Given the description of an element on the screen output the (x, y) to click on. 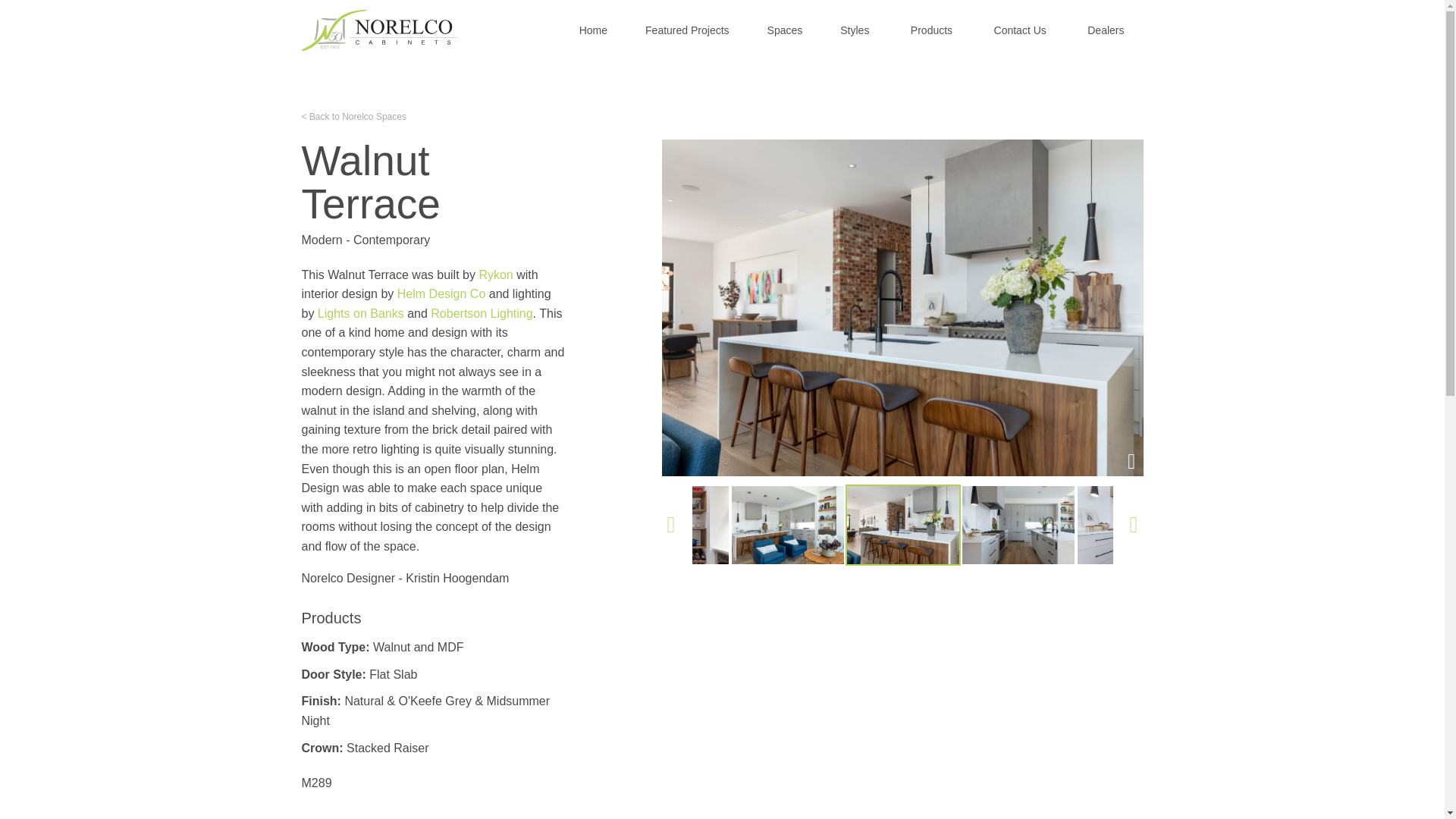
Lights on Banks (360, 313)
Rykon (495, 274)
Products (931, 30)
Home (593, 30)
Robertson Lighting (481, 313)
Featured Projects (687, 30)
Helm Design Co (440, 293)
Contact Us (1020, 30)
Spaces (785, 30)
Styles (854, 30)
Dealers (1105, 30)
